Given the description of an element on the screen output the (x, y) to click on. 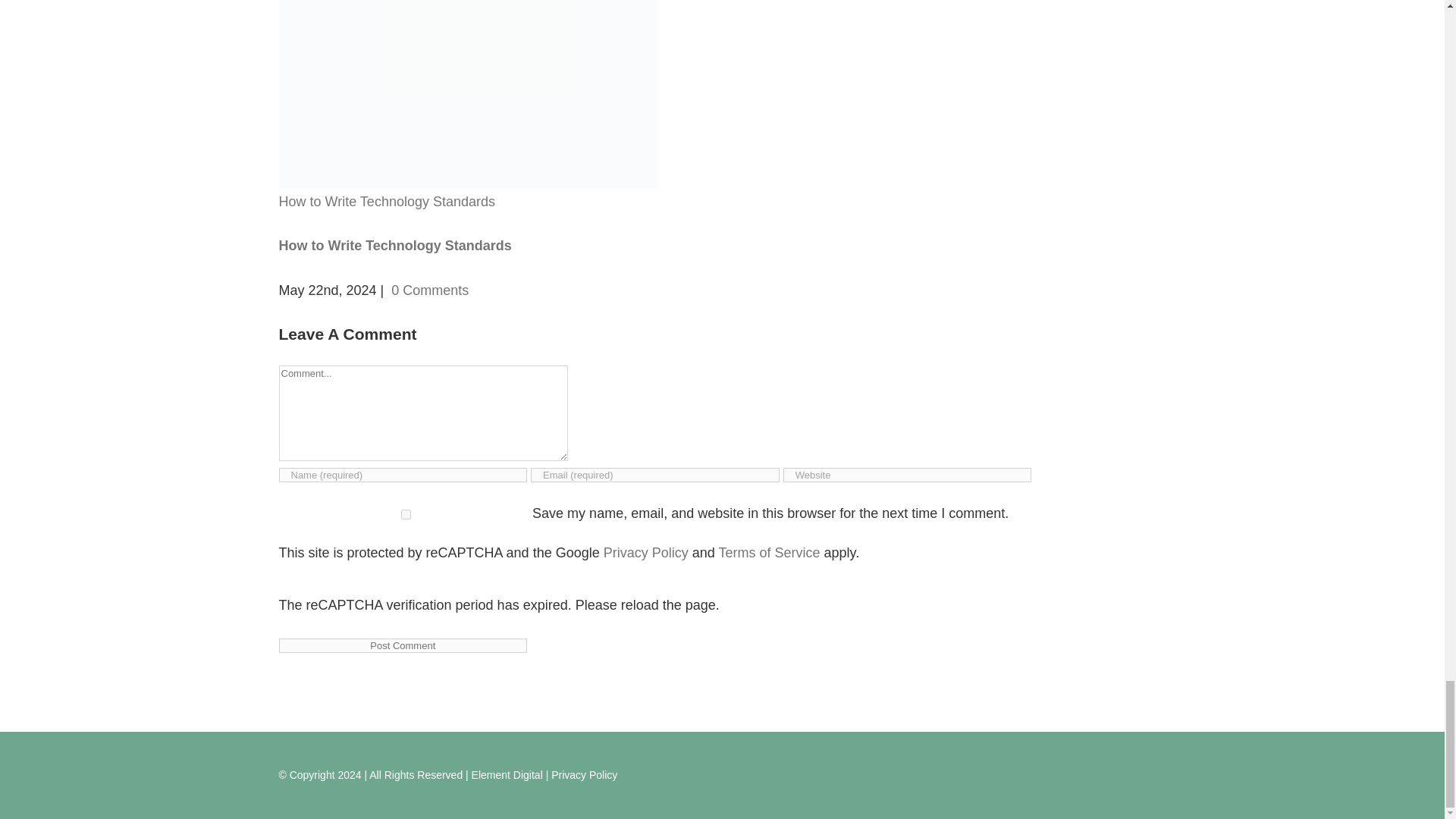
How to Write Technology Standards (395, 245)
yes (406, 514)
Post Comment (403, 645)
